Given the description of an element on the screen output the (x, y) to click on. 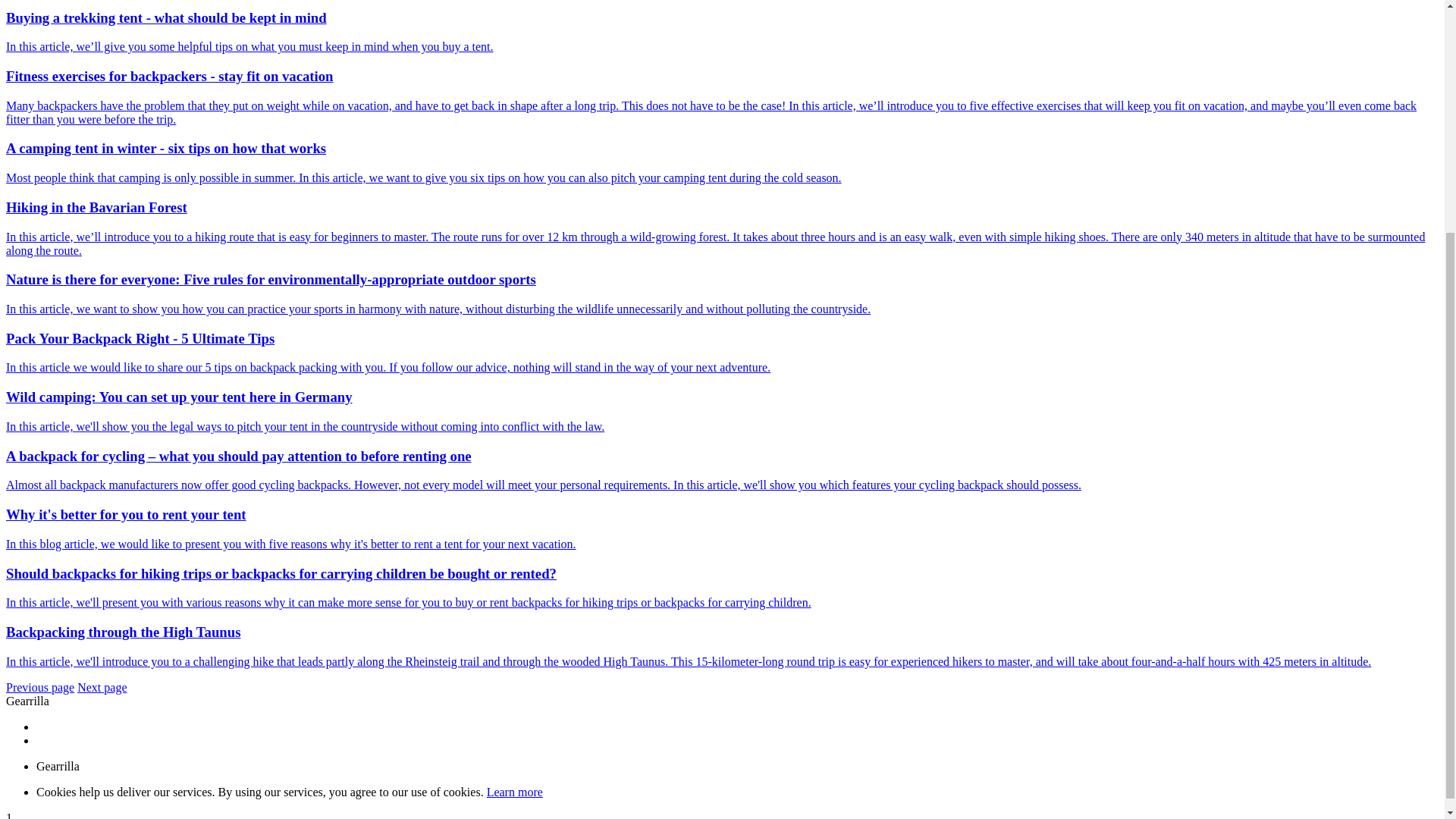
Next page (101, 686)
Learn more (514, 791)
Previous page (39, 686)
